Given the description of an element on the screen output the (x, y) to click on. 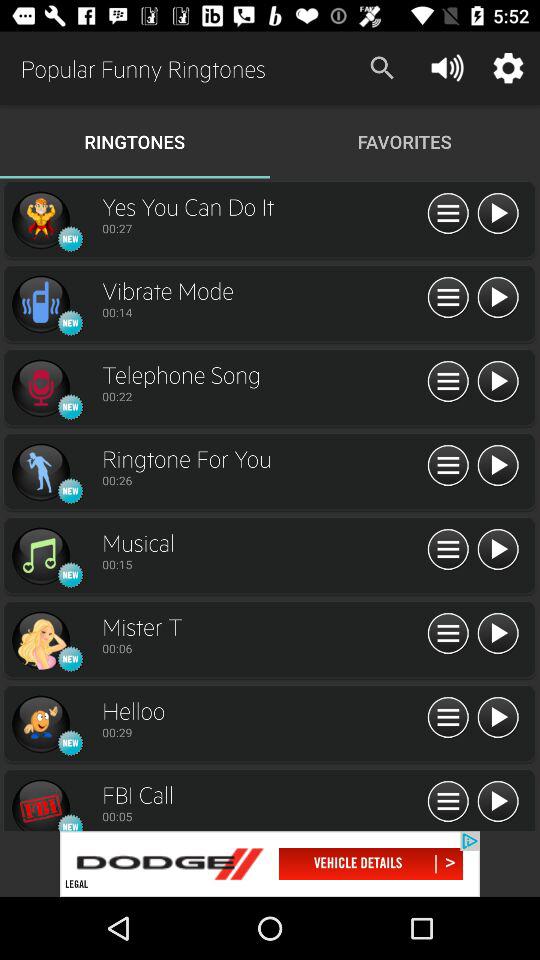
play song (497, 801)
